Given the description of an element on the screen output the (x, y) to click on. 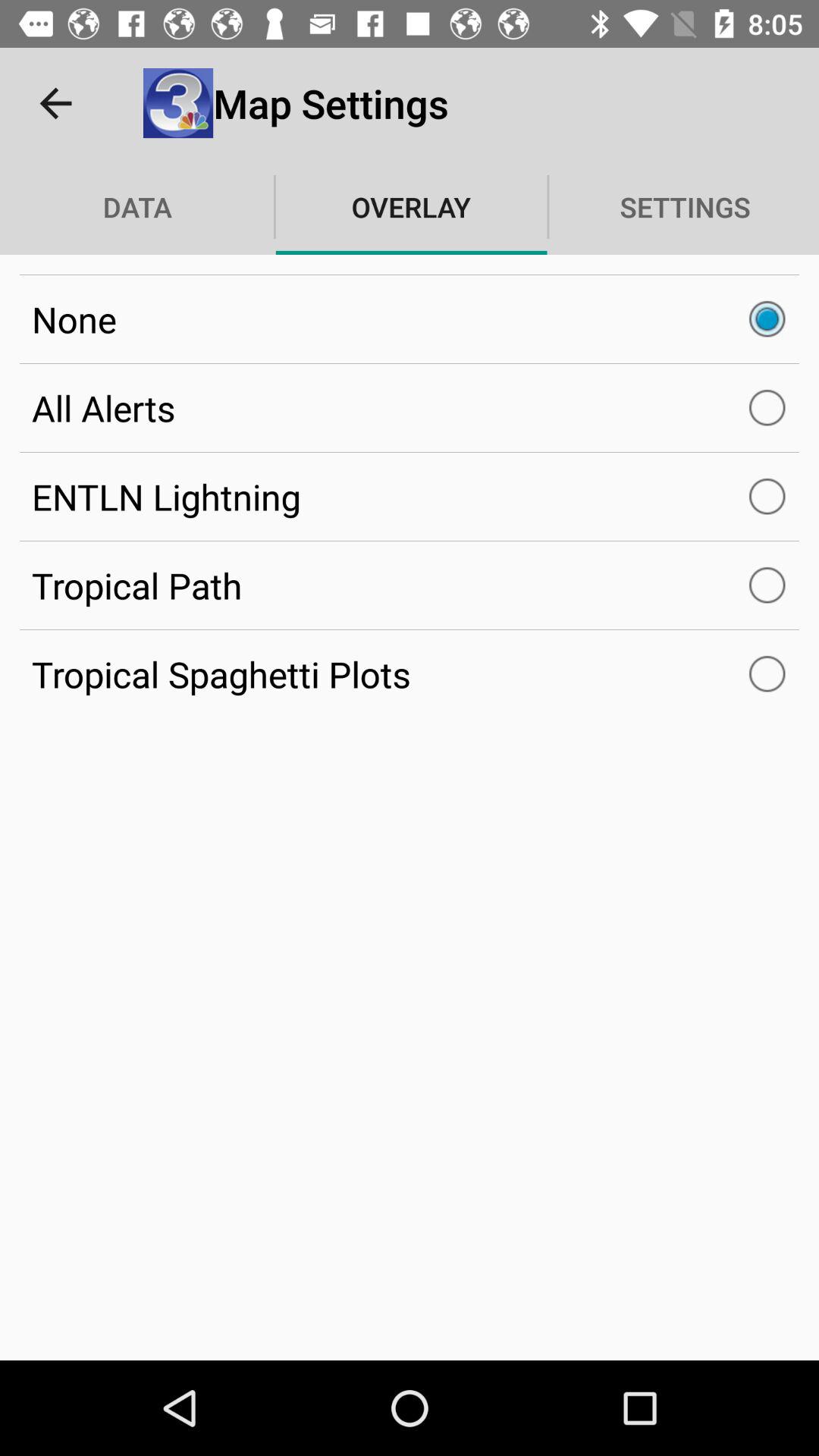
turn off the item below entln lightning item (409, 585)
